Given the description of an element on the screen output the (x, y) to click on. 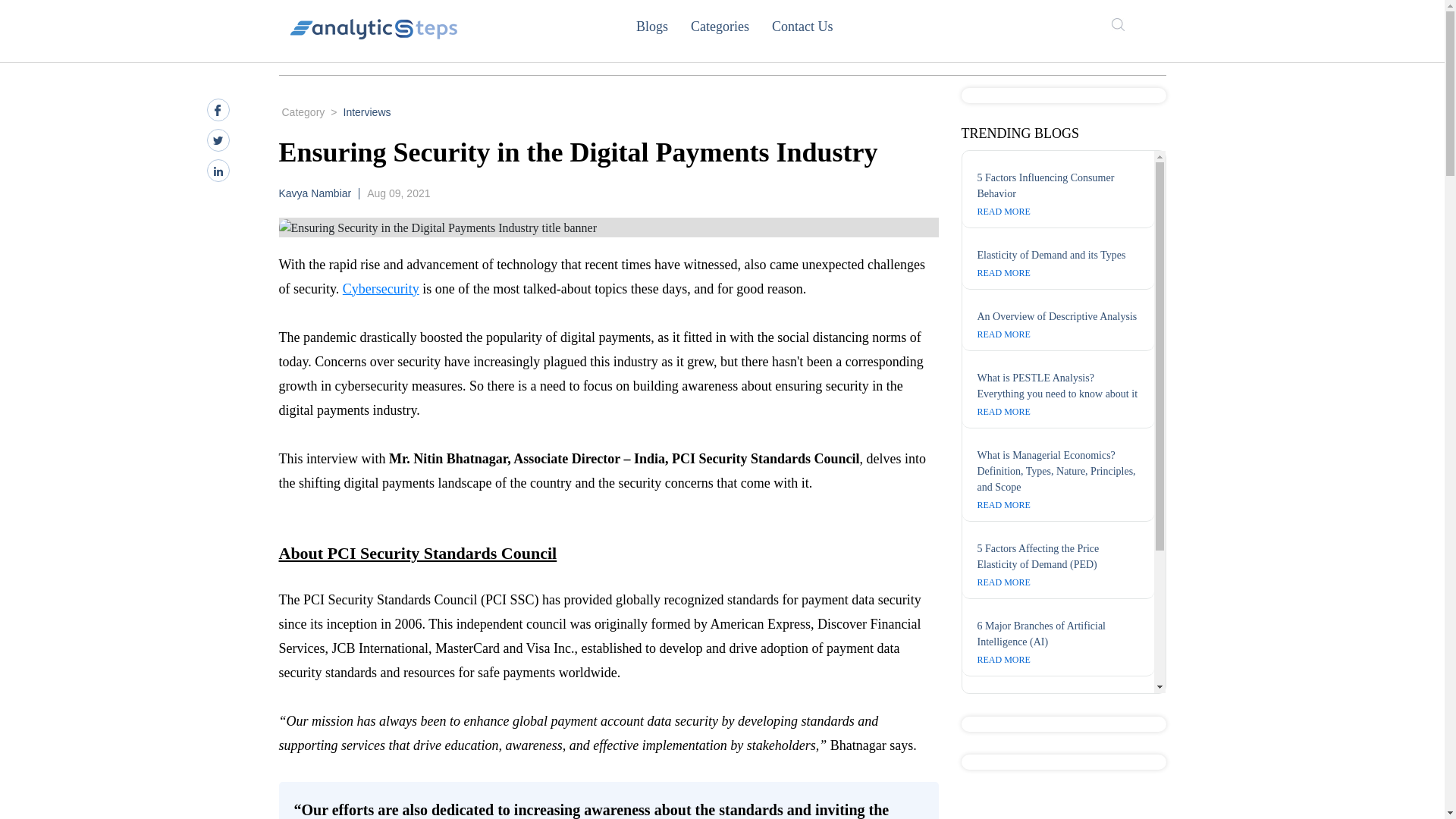
Blogs (663, 26)
READ MORE (1002, 211)
READ MORE (1002, 272)
READ MORE (1002, 582)
READ MORE (1002, 504)
READ MORE (1002, 411)
Contact Us (813, 26)
READ MORE (1002, 798)
Categories (730, 26)
READ MORE (1002, 659)
